Given the description of an element on the screen output the (x, y) to click on. 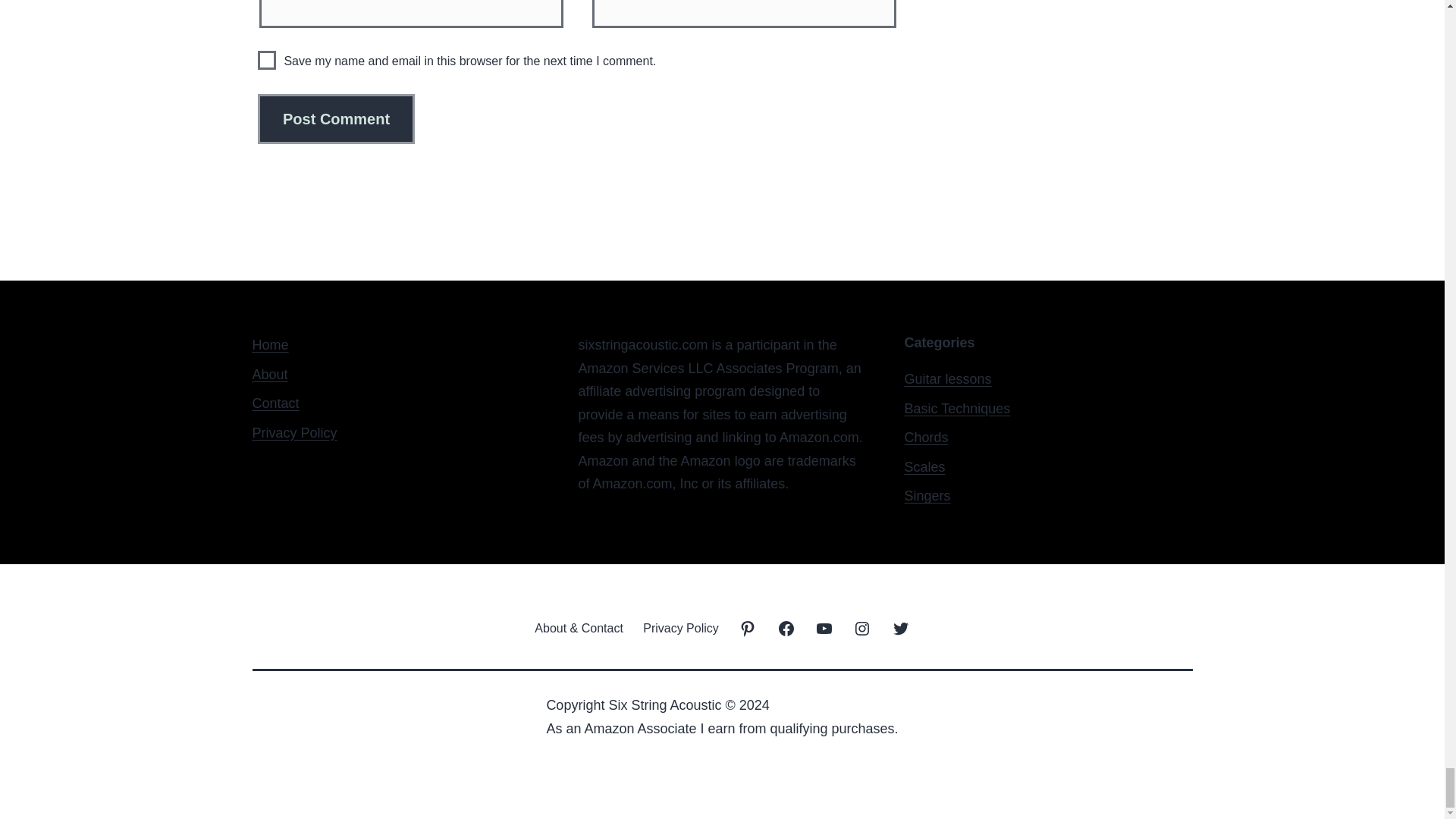
yes (266, 59)
Post Comment (335, 119)
